Given the description of an element on the screen output the (x, y) to click on. 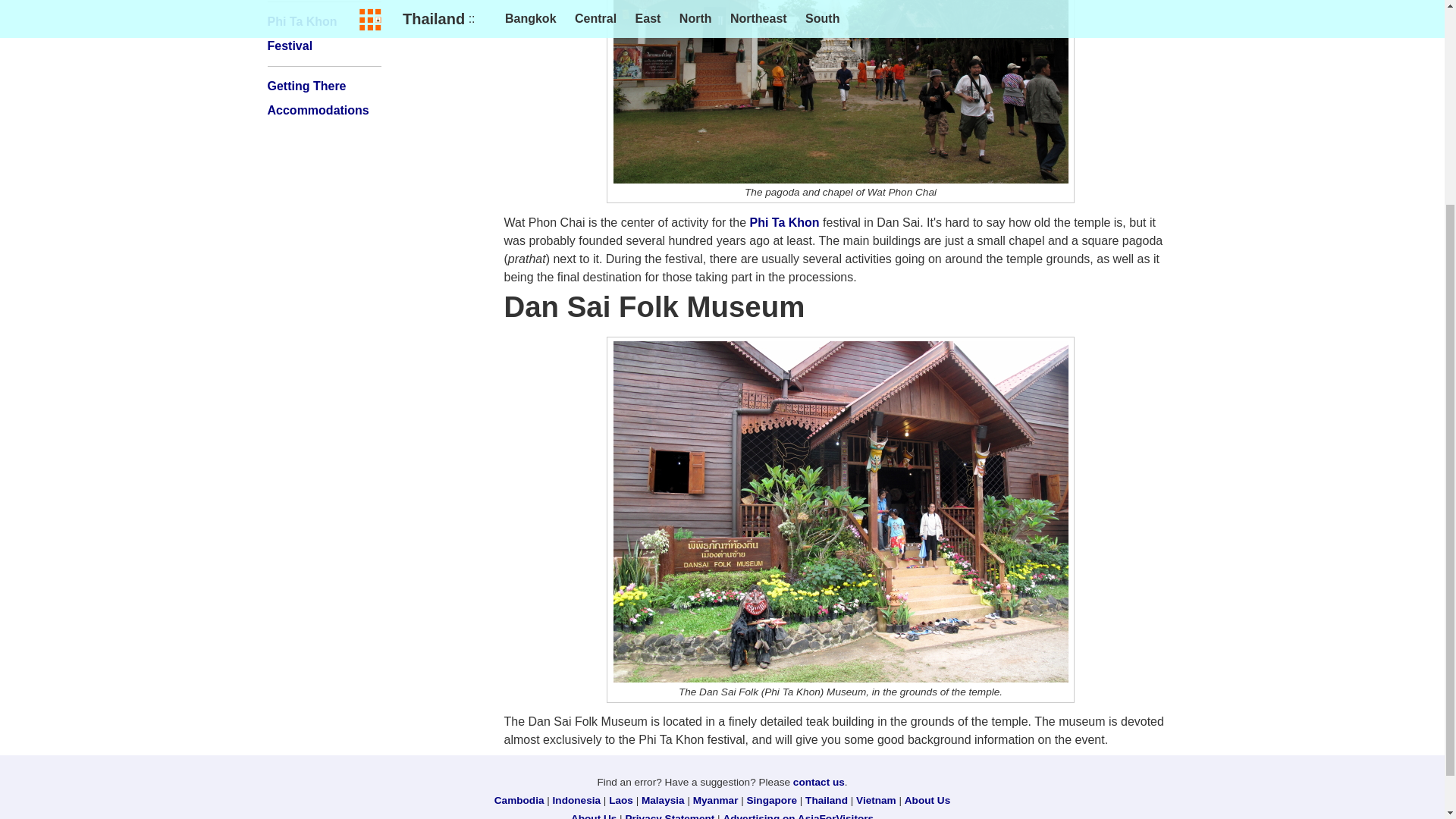
Cambodia (519, 799)
Singapore (771, 799)
Accommodations (317, 110)
Indonesia (576, 799)
About Us (927, 799)
Thailand (826, 799)
Malaysia (663, 799)
Laos (620, 799)
Getting There (306, 85)
Phi Ta Khon Festival (301, 33)
contact us (818, 781)
Vietnam (876, 799)
Myanmar (715, 799)
Phi Ta Khon (783, 222)
